Given the description of an element on the screen output the (x, y) to click on. 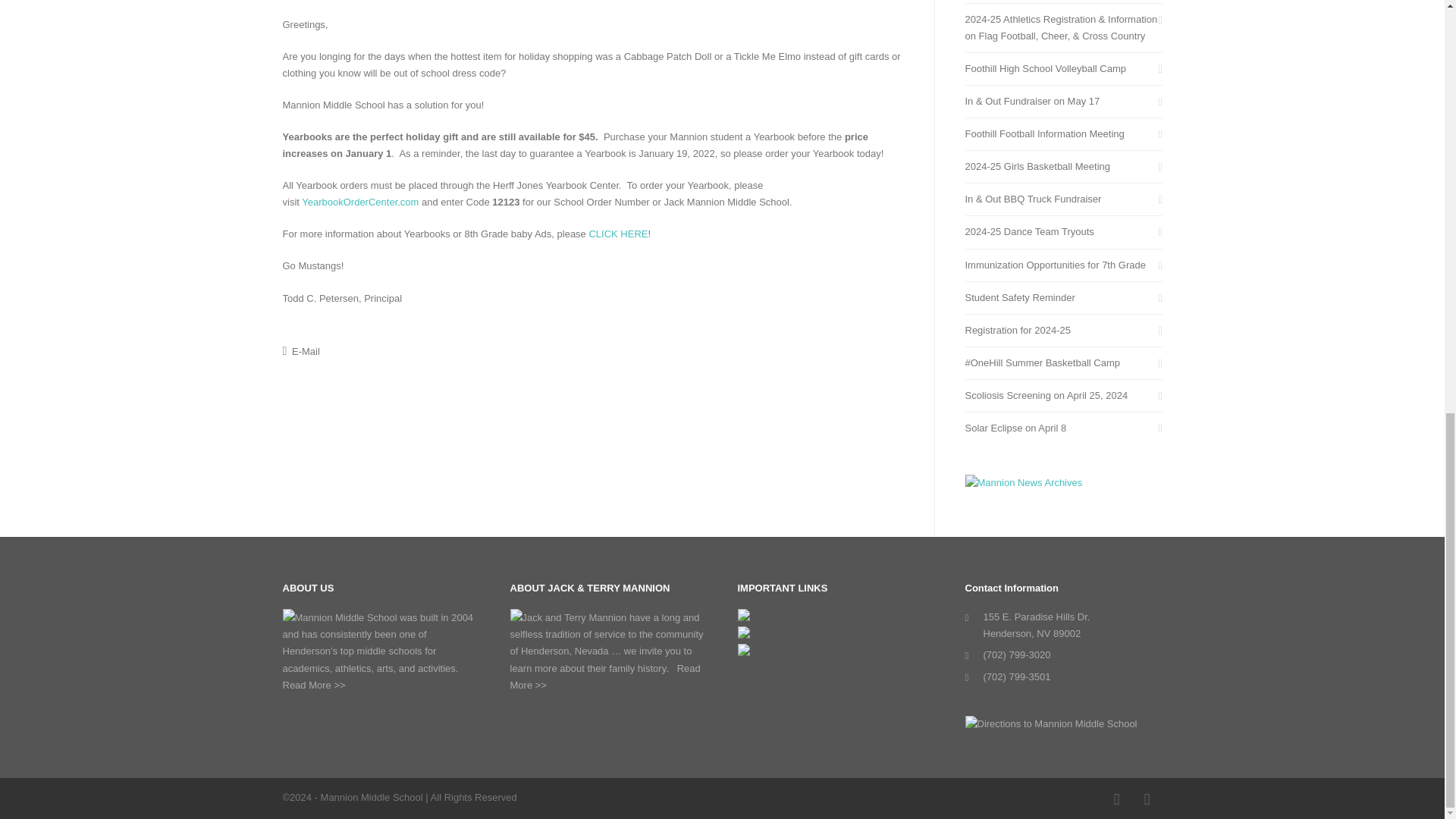
Share via E-Mail (300, 350)
Facebook (1115, 798)
Twitter (1146, 798)
